Given the description of an element on the screen output the (x, y) to click on. 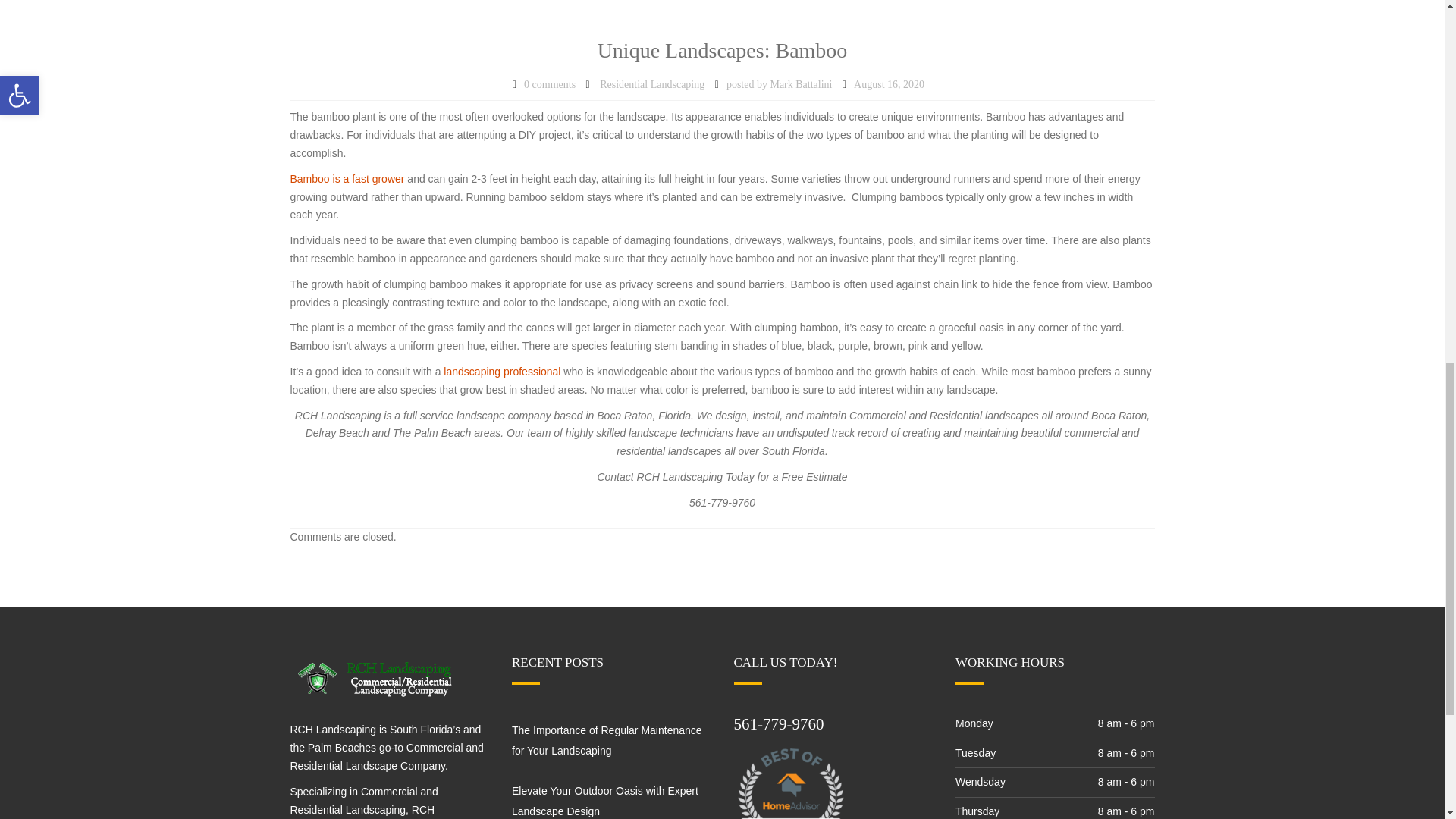
Elevate Your Outdoor Oasis with Expert Landscape Design (605, 800)
Mark Battalini (800, 85)
0 comments (549, 85)
landscaping professional (500, 371)
Bamboo is a fast grower (346, 178)
561-779-9760 (778, 723)
Residential Landscaping (651, 85)
The Importance of Regular Maintenance for Your Landscaping (606, 739)
